Given the description of an element on the screen output the (x, y) to click on. 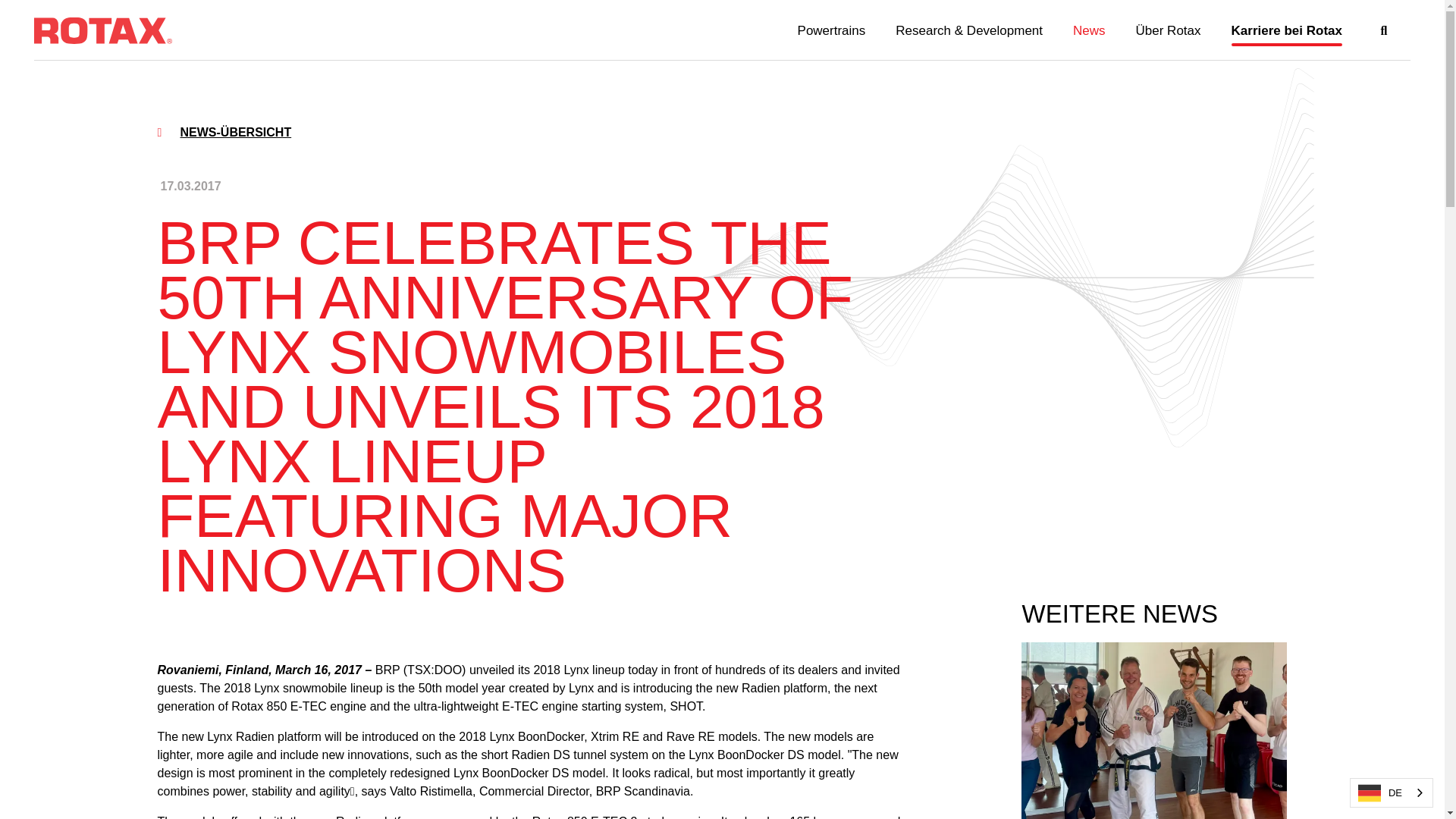
News (1089, 31)
News (1089, 31)
